Given the description of an element on the screen output the (x, y) to click on. 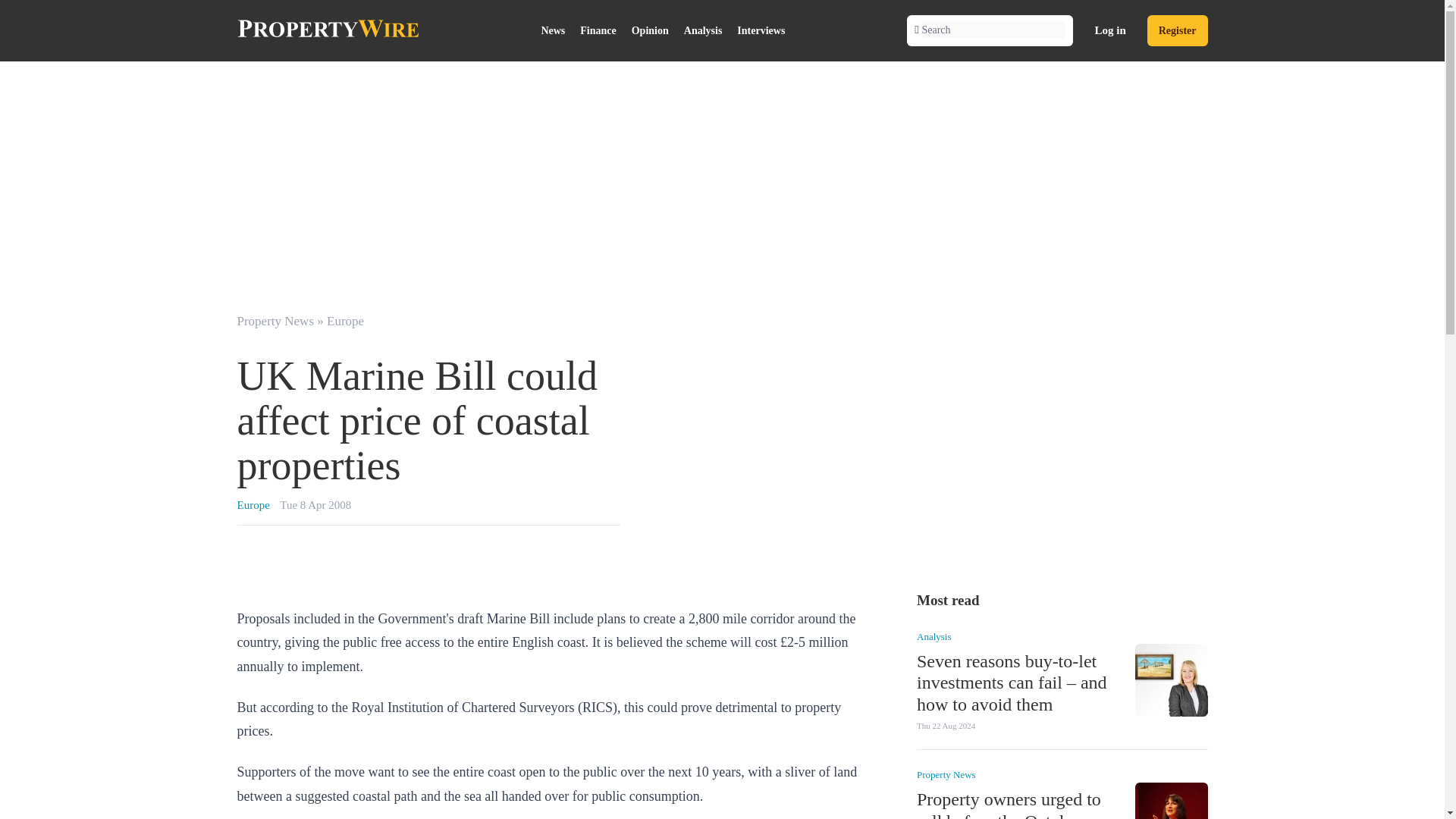
Register (1177, 30)
Europe (252, 504)
Property News (945, 774)
News (552, 30)
Europe (345, 320)
Opinion (650, 30)
Interviews (760, 30)
Search for: (993, 29)
Property News (274, 320)
